Given the description of an element on the screen output the (x, y) to click on. 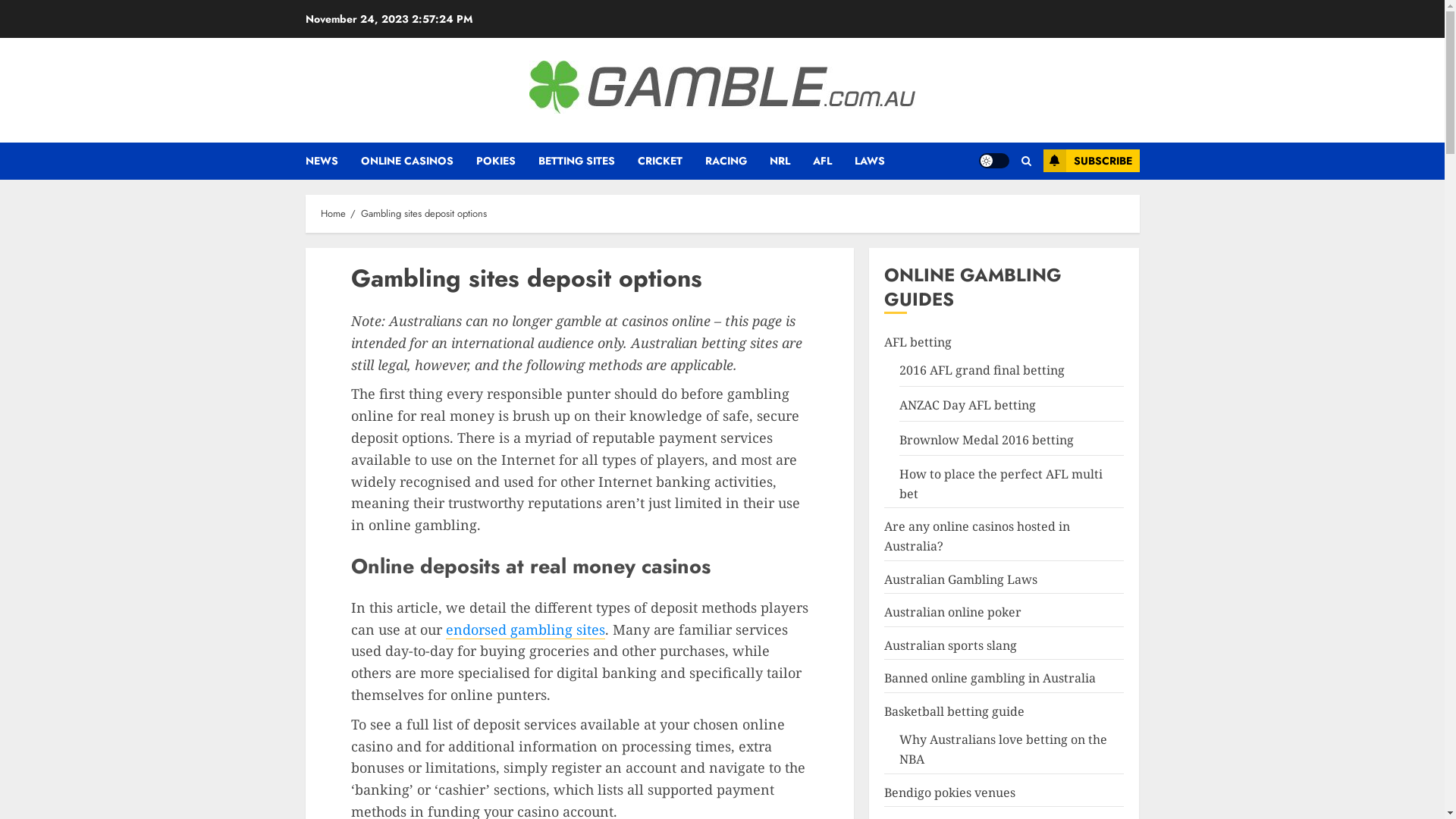
Search Element type: text (996, 206)
Home Element type: text (332, 213)
Australian online poker Element type: text (952, 612)
NEWS Element type: text (332, 160)
Are any online casinos hosted in Australia? Element type: text (977, 536)
Brownlow Medal 2016 betting Element type: text (986, 439)
SUBSCRIBE Element type: text (1091, 160)
Search Element type: hover (1025, 160)
RACING Element type: text (737, 160)
LAWS Element type: text (868, 160)
AFL Element type: text (833, 160)
AFL betting Element type: text (917, 342)
NRL Element type: text (790, 160)
Light/Dark Button Element type: text (993, 160)
Australian sports slang Element type: text (950, 645)
Basketball betting guide Element type: text (954, 711)
Australian Gambling Laws Element type: text (960, 579)
Why Australians love betting on the NBA Element type: text (1003, 749)
ANZAC Day AFL betting Element type: text (967, 405)
POKIES Element type: text (507, 160)
endorsed gambling sites Element type: text (525, 629)
BETTING SITES Element type: text (587, 160)
ONLINE CASINOS Element type: text (418, 160)
Banned online gambling in Australia Element type: text (989, 678)
Bendigo pokies venues Element type: text (949, 792)
How to place the perfect AFL multi bet Element type: text (1000, 483)
2016 AFL grand final betting Element type: text (981, 370)
Gambling sites deposit options Element type: text (423, 213)
CRICKET Element type: text (670, 160)
